Given the description of an element on the screen output the (x, y) to click on. 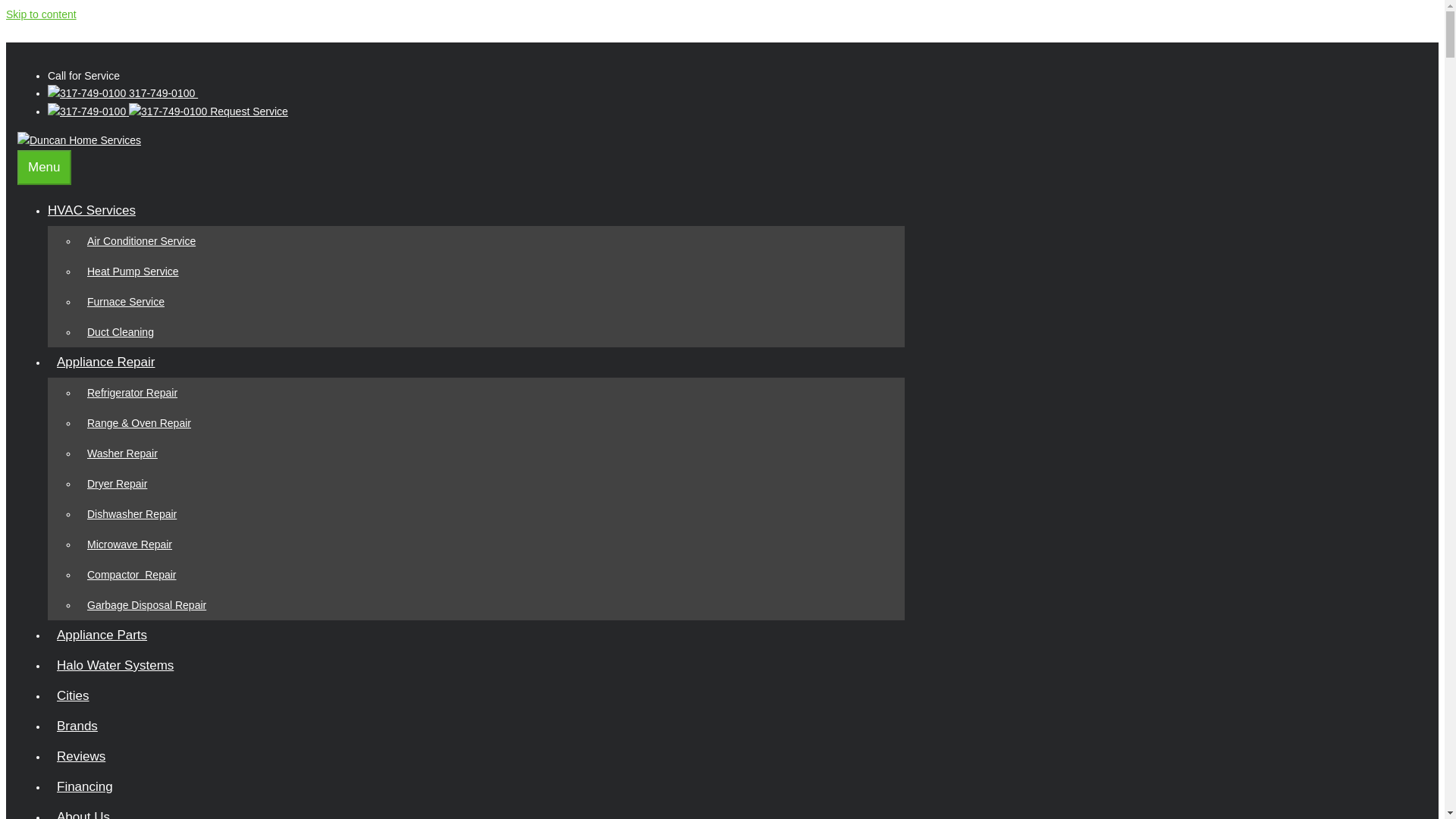
Request Service (168, 111)
Air Conditioner Service (141, 240)
Washer Repair (122, 452)
Reviews (81, 756)
Skip to content (41, 14)
Garbage Disposal Repair (146, 605)
Skip to content (41, 14)
Microwave Repair (129, 543)
Compactor  Repair (132, 574)
Appliance Repair (110, 361)
Furnace Service (125, 301)
Financing (85, 786)
Halo Water Systems (115, 665)
Heat Pump Service (132, 271)
Appliance Parts (101, 635)
